Given the description of an element on the screen output the (x, y) to click on. 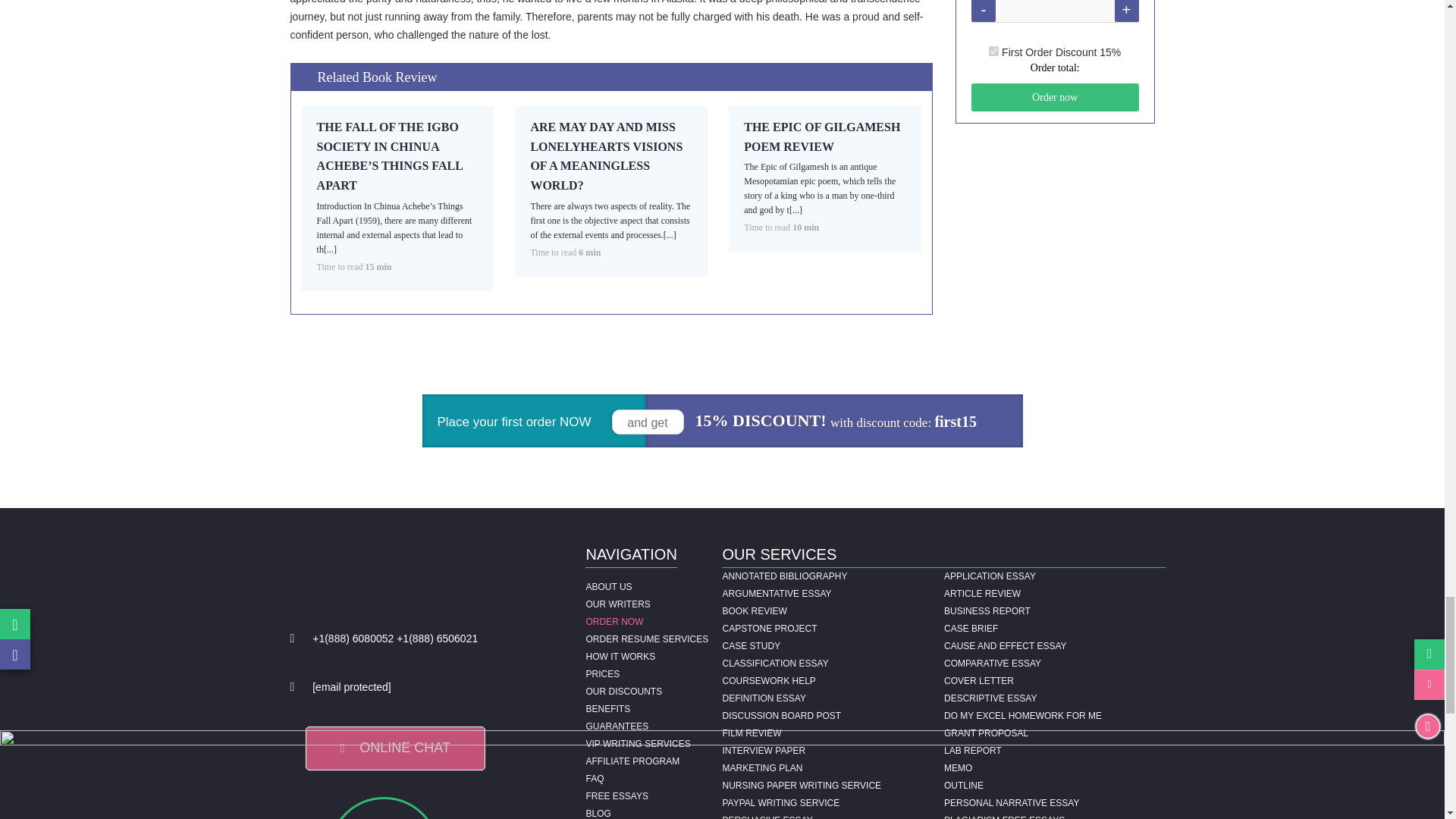
Read more (821, 136)
Read more (605, 155)
Read more (390, 155)
ca.123helpme.org (506, 807)
